Given the description of an element on the screen output the (x, y) to click on. 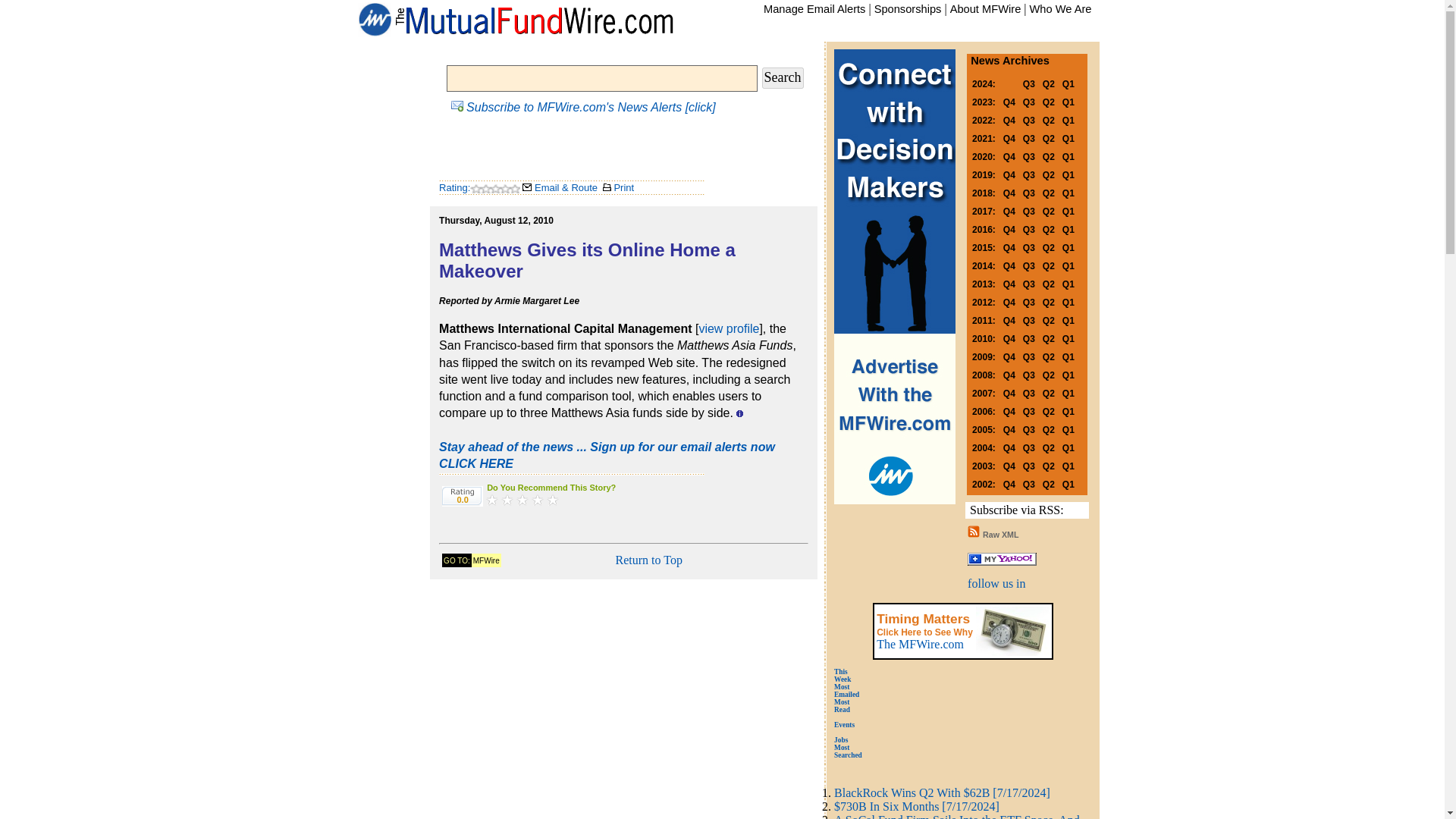
Sponsorships (908, 8)
1 (491, 499)
view profile (728, 328)
Q3 (1029, 155)
2 (507, 499)
Q1 (1068, 101)
3 (522, 499)
MFWire (486, 558)
Q3 (1029, 119)
5 (552, 499)
Q2 (1048, 137)
Q2 (1048, 119)
Q3 (1029, 101)
Write More Like This - 3 stars (522, 499)
